Given the description of an element on the screen output the (x, y) to click on. 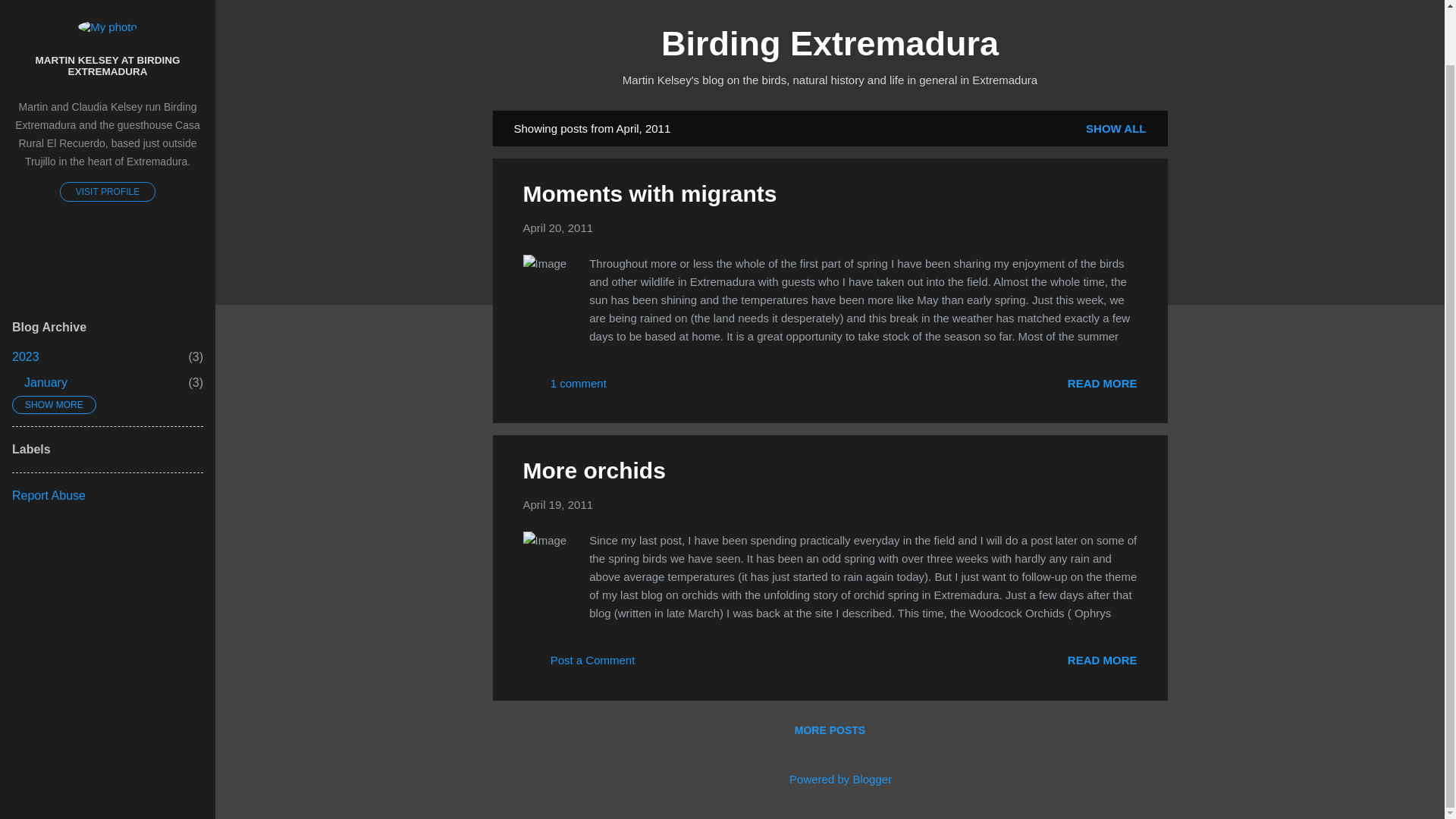
More orchids (25, 356)
April 20, 2011 (593, 470)
Post a Comment (558, 227)
VISIT PROFILE (578, 665)
MORE POSTS (107, 191)
1 comment (829, 729)
permanent link (45, 382)
Moments with migrants (564, 388)
READ MORE (558, 227)
READ MORE (1102, 382)
Email Post (1102, 382)
Moments with migrants (1102, 659)
permanent link (630, 388)
